Given the description of an element on the screen output the (x, y) to click on. 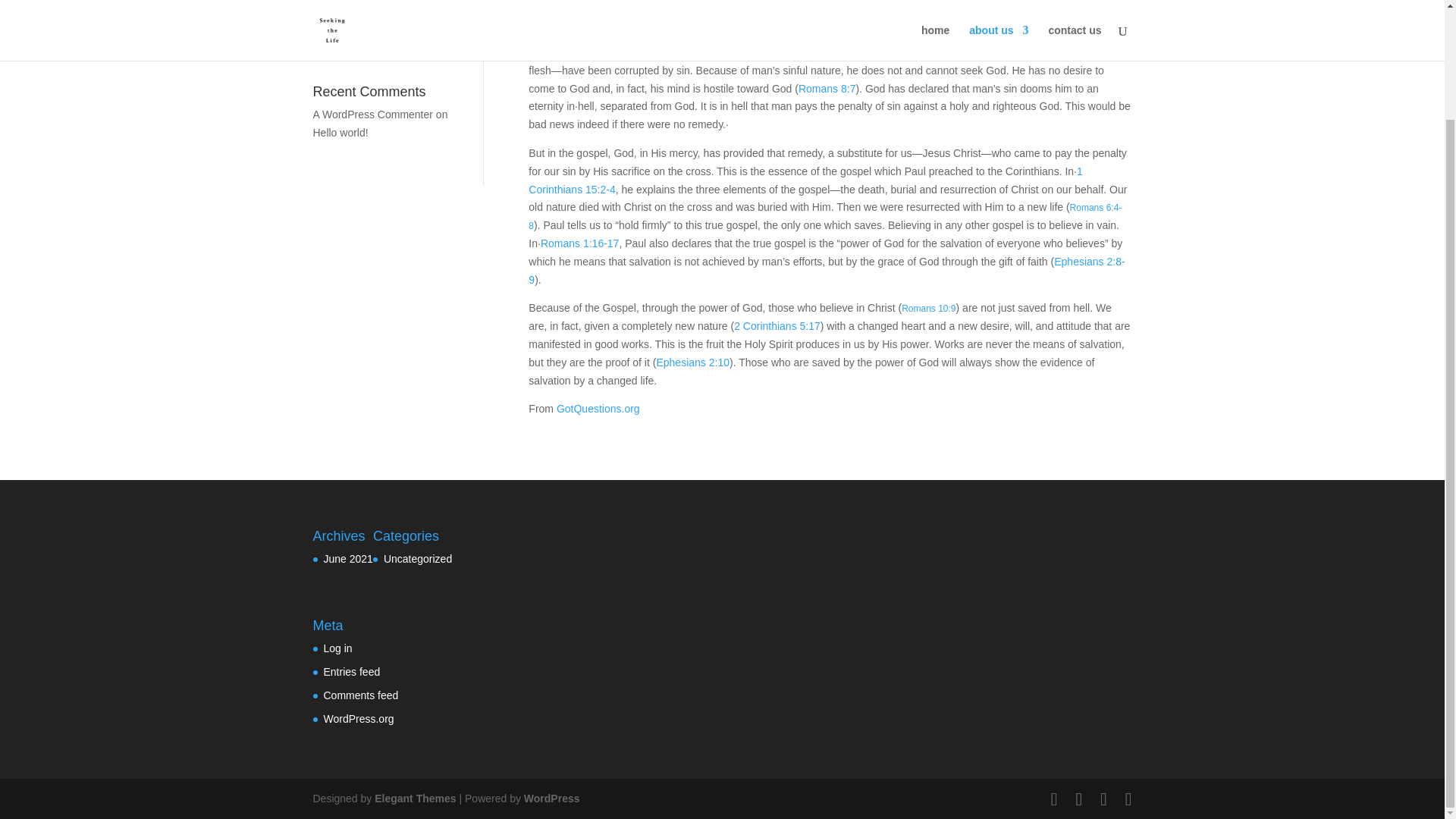
Premium WordPress Themes (414, 798)
Ephesians 2:8-9 (826, 270)
Hello world! (340, 132)
GotQuestions.org (598, 408)
Ephesians 2:10 (692, 362)
Romans 10:9 (928, 308)
Genesis 3:6 (852, 51)
Entries feed (351, 671)
Romans 1:16-17 (580, 243)
2 Corinthians 5:17 (777, 326)
Hello world! (340, 30)
A WordPress Commenter (372, 114)
Romans 8:7 (826, 88)
1 Corinthians 15:2-4 (804, 180)
WordPress.org (358, 718)
